Given the description of an element on the screen output the (x, y) to click on. 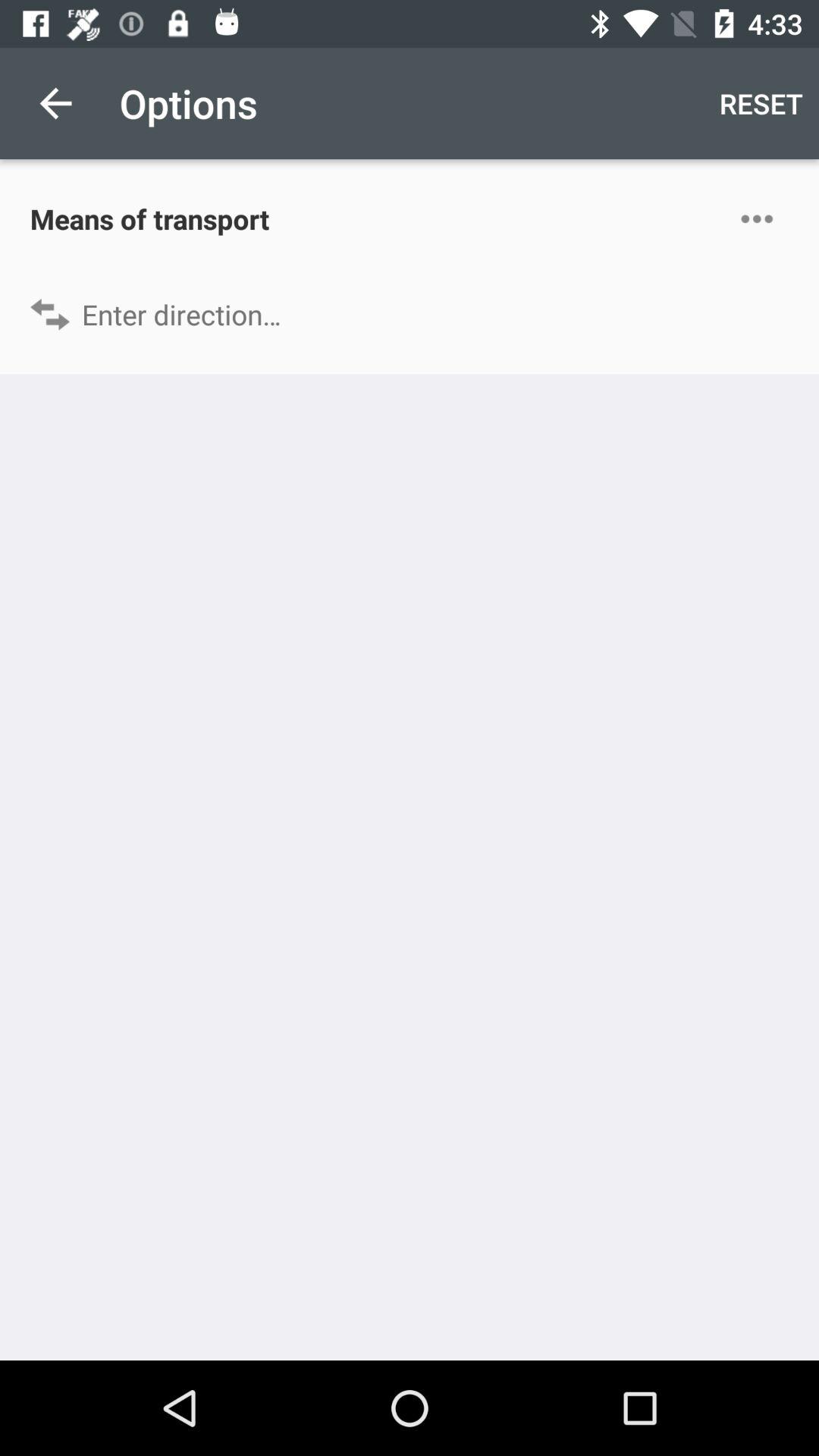
turn off icon next to the options app (55, 103)
